Given the description of an element on the screen output the (x, y) to click on. 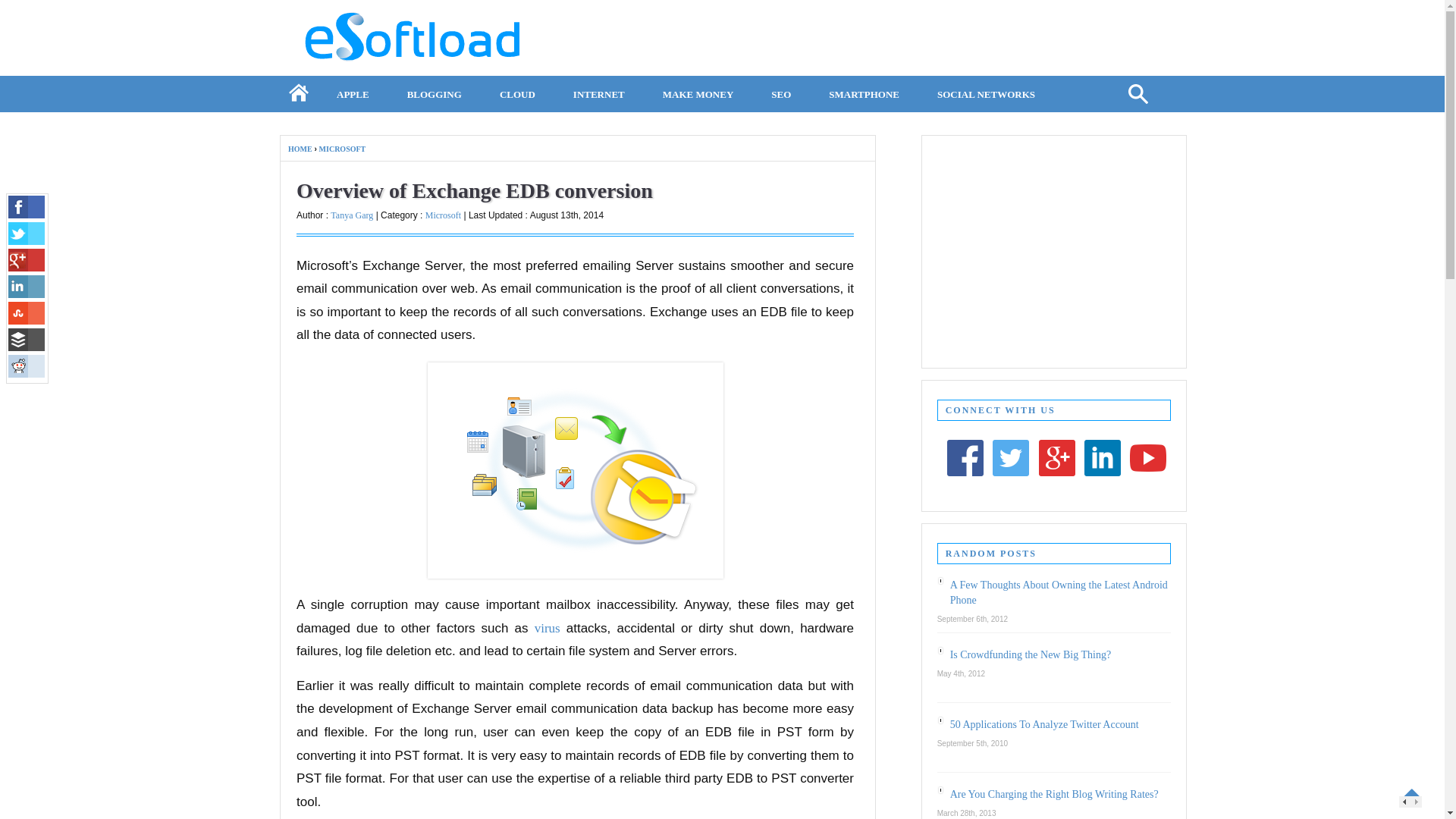
HOME (300, 148)
MAKE MONEY (697, 92)
Share on LinkedIn (26, 286)
Stumble it (26, 313)
CLOUD (517, 92)
LinkedIn (26, 286)
MICROSOFT (342, 148)
Facebook (26, 206)
APPLE (352, 92)
SMARTPHONE (863, 92)
